Given the description of an element on the screen output the (x, y) to click on. 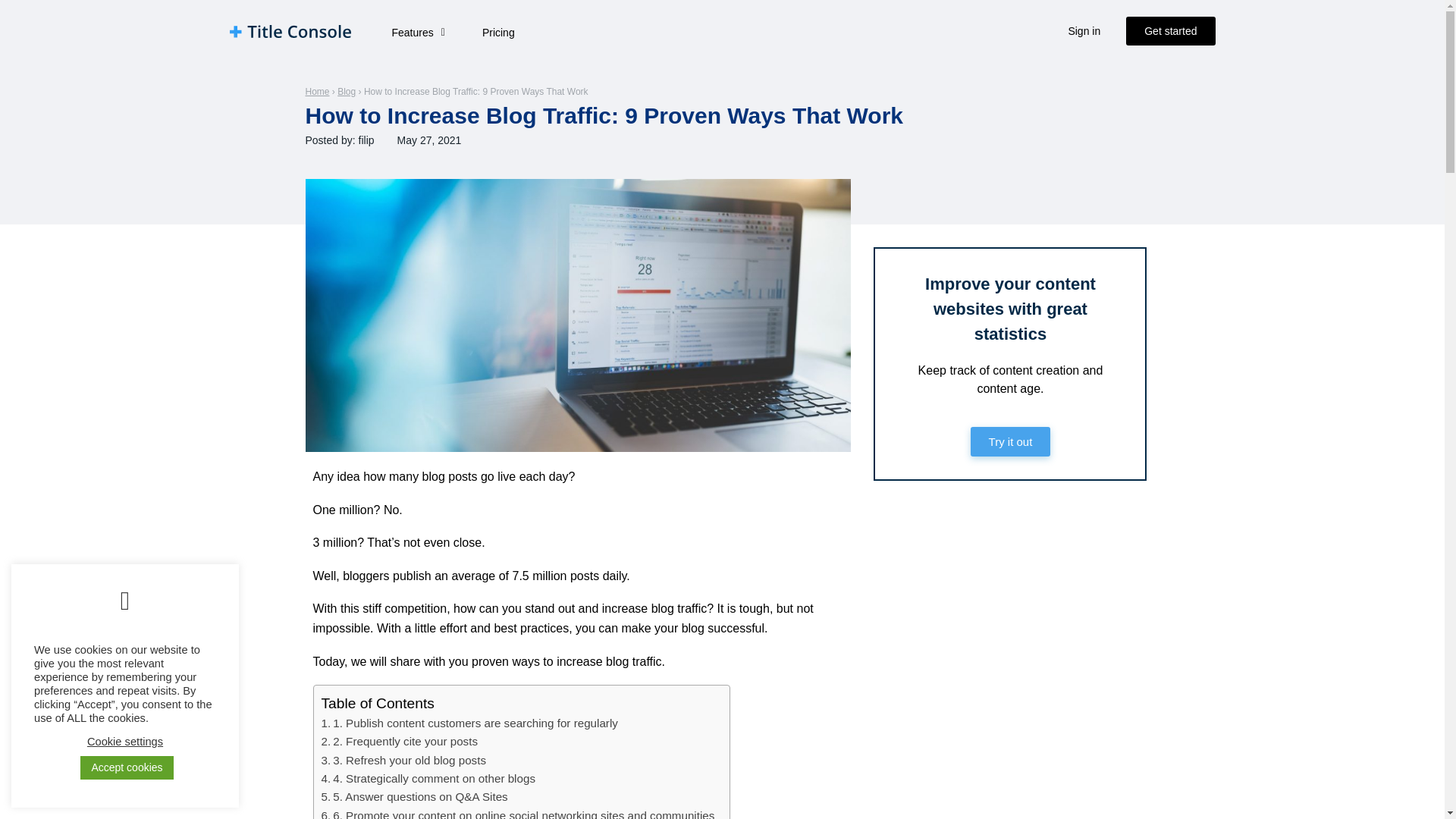
3. Refresh your old blog posts (403, 760)
4. Strategically comment on other blogs (428, 778)
1. Publish content customers are searching for regularly (469, 723)
Get started (1169, 30)
Pricing (498, 32)
Features (417, 32)
1. Publish content customers are searching for regularly (469, 723)
Blog (346, 91)
3. Refresh your old blog posts (403, 760)
2. Frequently cite your posts (400, 741)
2. Frequently cite your posts (400, 741)
Sign in (1083, 30)
Home (316, 91)
